Given the description of an element on the screen output the (x, y) to click on. 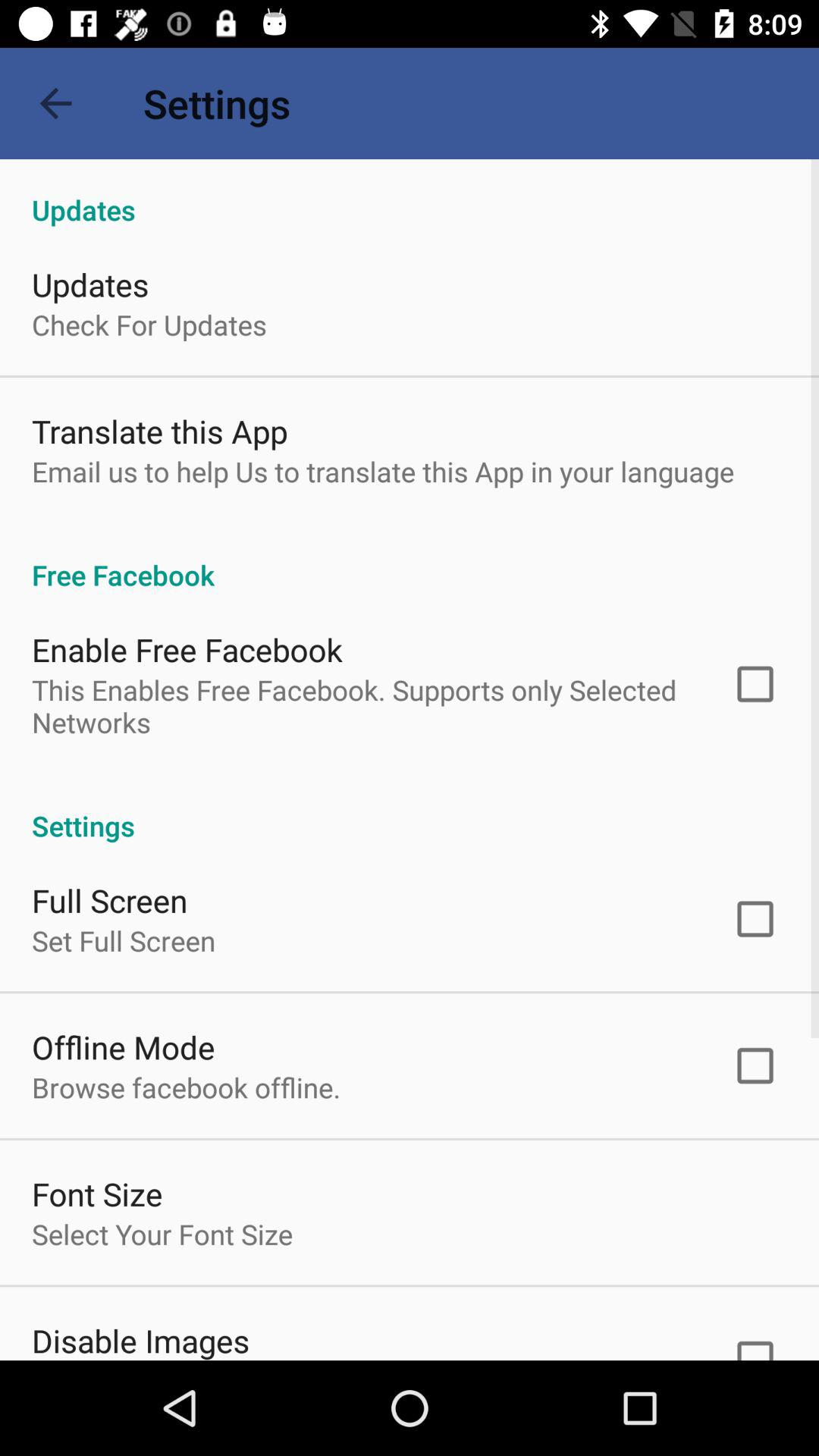
flip until the select your font item (161, 1233)
